Given the description of an element on the screen output the (x, y) to click on. 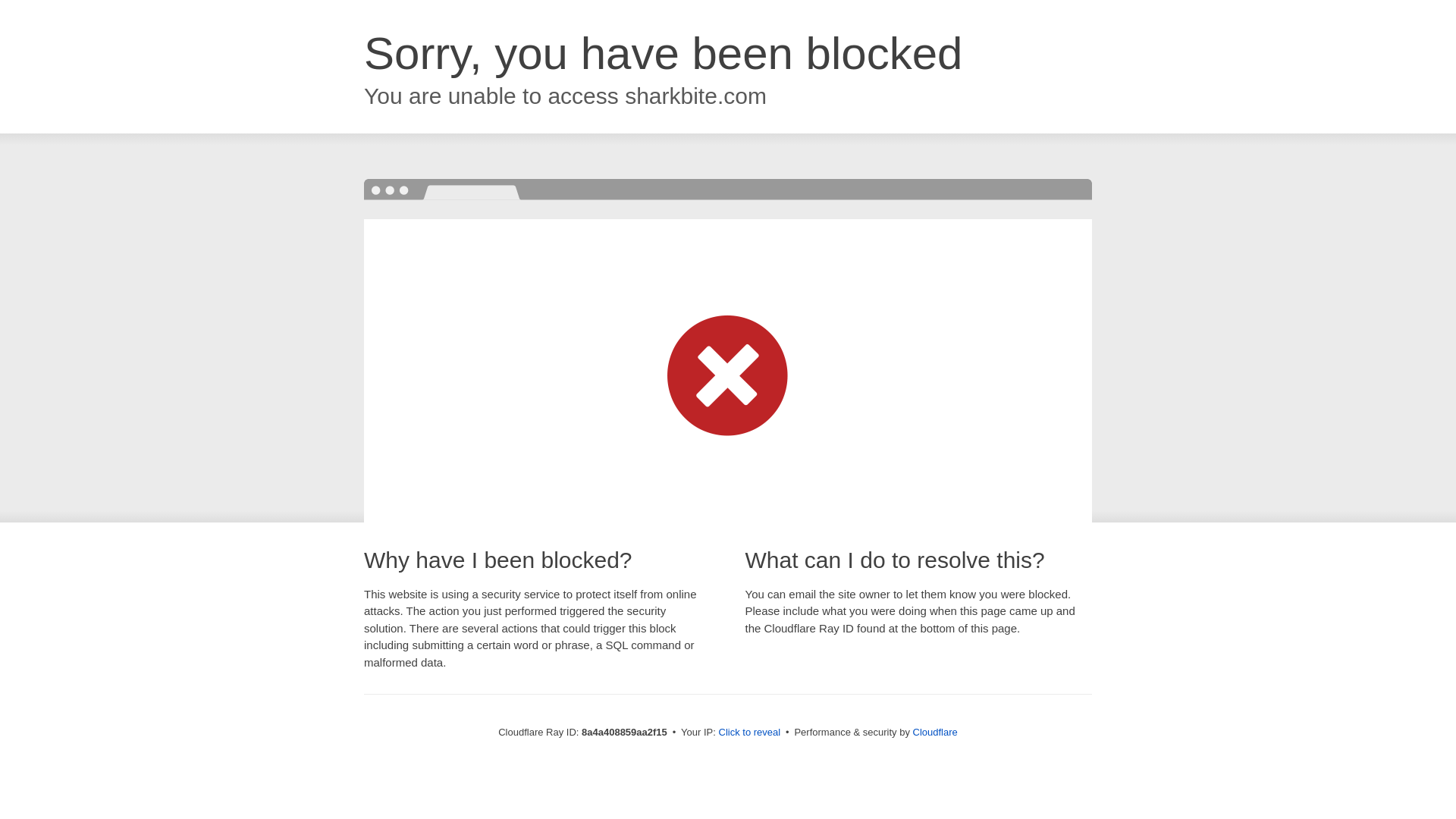
Cloudflare (935, 731)
Click to reveal (749, 732)
